Given the description of an element on the screen output the (x, y) to click on. 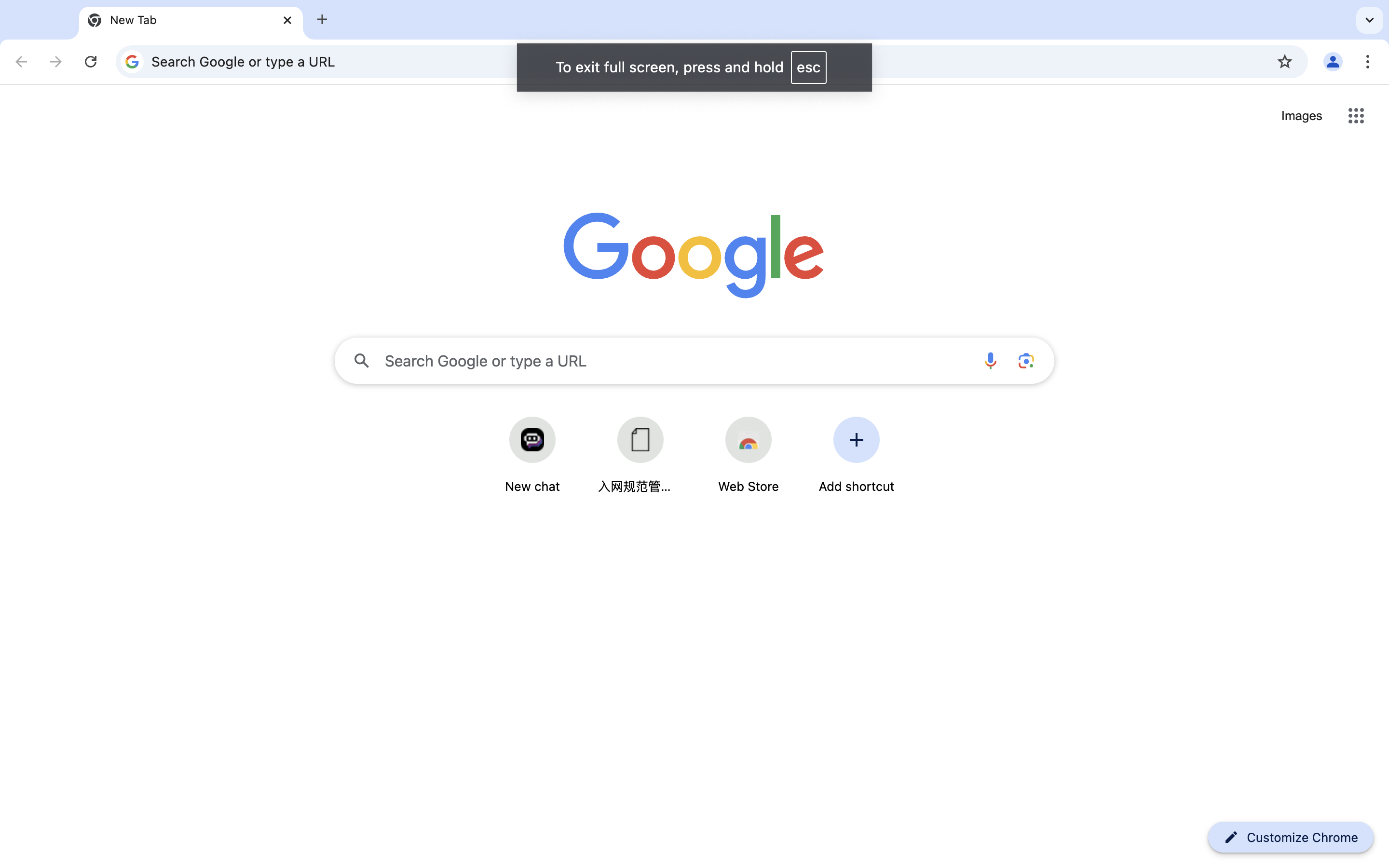
入网规范管理平台 Element type: AXStaticText (634, 486)
To exit full screen, press and hold To exit full screen, press and hold esc esc Element type: AXGroup (694, 67)
New chat Element type: AXStaticText (532, 486)
True Element type: AXRadioButton (190, 20)
Web Store Element type: AXStaticText (748, 486)
